Given the description of an element on the screen output the (x, y) to click on. 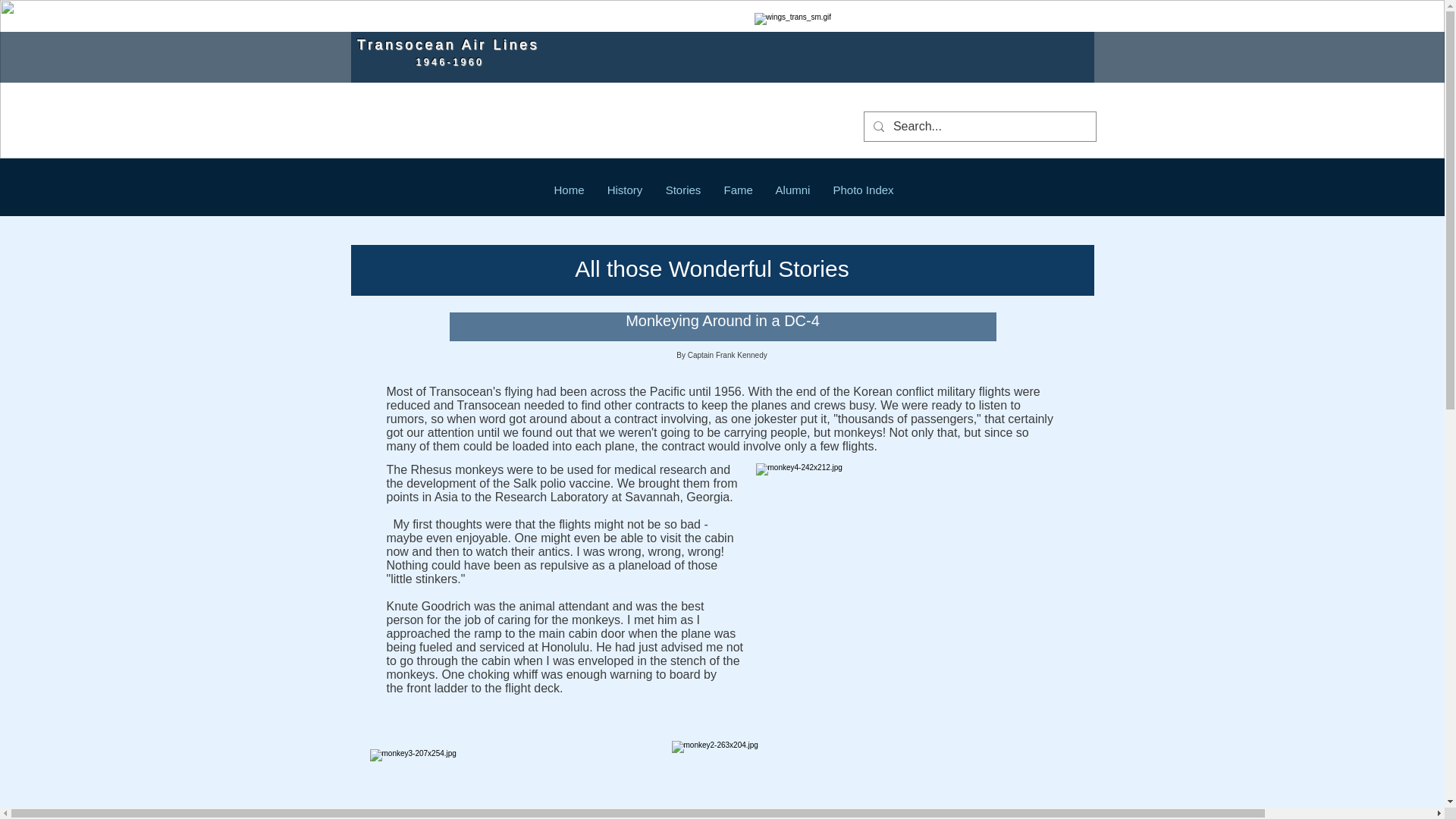
Photo Index (863, 190)
Fame (738, 190)
Alumni (793, 190)
Stories (682, 190)
Home (569, 190)
          1946-1960 (416, 60)
 Transocean Air Lines        (467, 44)
History (624, 190)
